Given the description of an element on the screen output the (x, y) to click on. 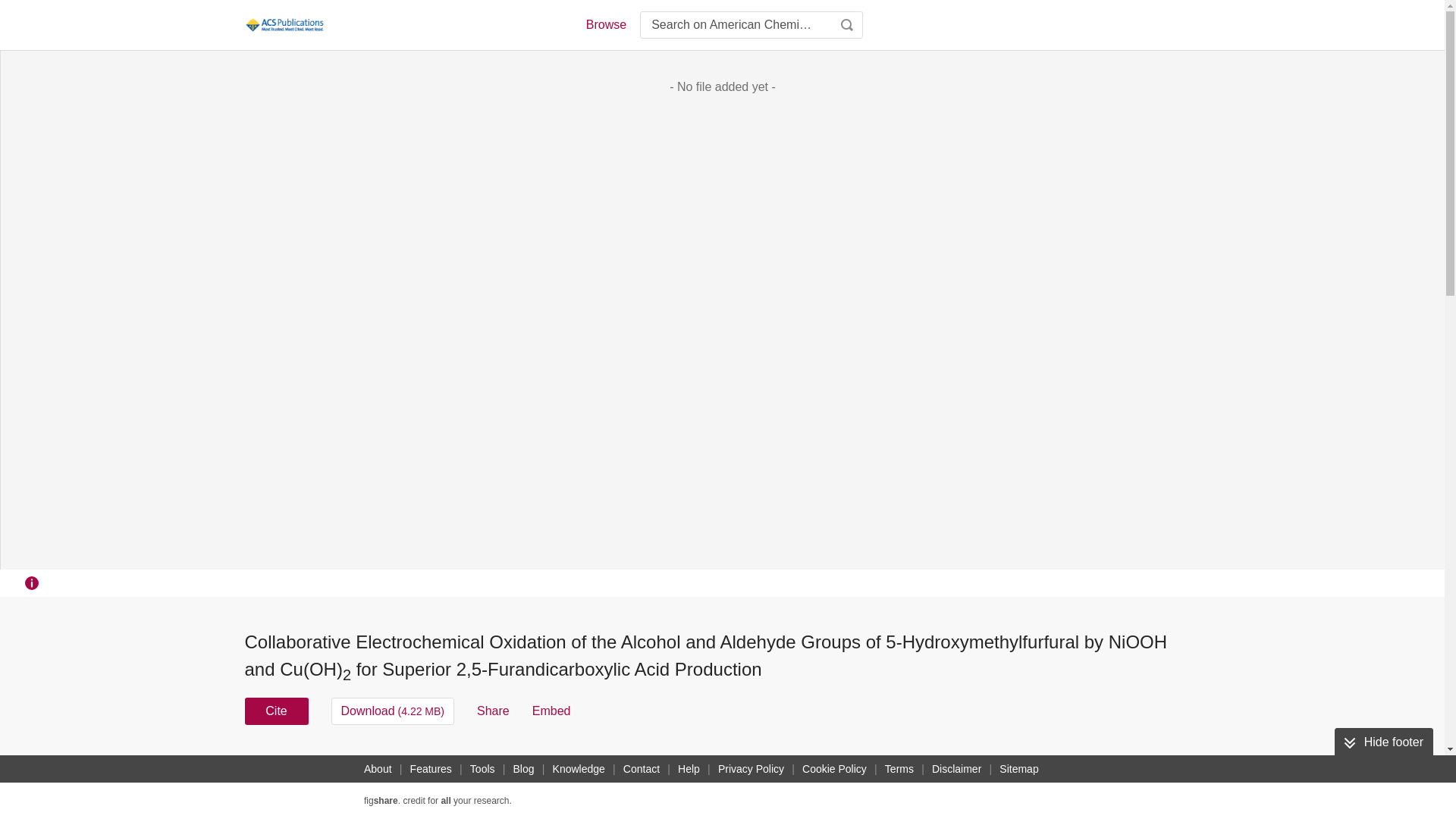
Cite (275, 710)
USAGE METRICS (976, 765)
Browse (605, 24)
Share (493, 710)
Embed (551, 710)
